Given the description of an element on the screen output the (x, y) to click on. 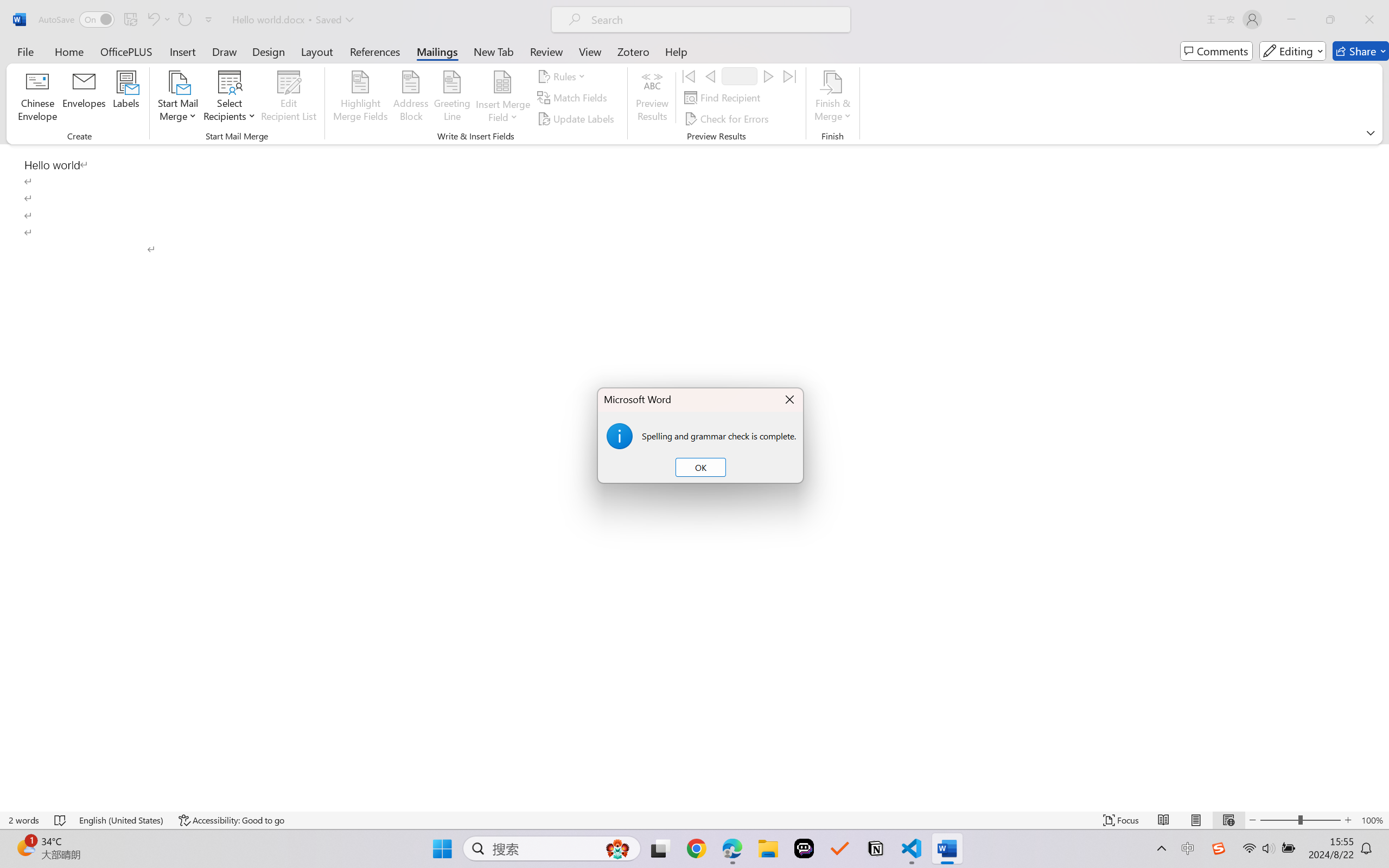
File Tab (24, 51)
Chinese Envelope... (37, 97)
More Options (502, 112)
Design (268, 51)
AutomationID: BadgeAnchorLargeTicker (24, 847)
Editing (1292, 50)
Zoom (1300, 819)
Customize Quick Access Toolbar (208, 19)
Web Layout (1228, 819)
Class: MsoCommandBar (694, 72)
Zoom 100% (1372, 819)
First (688, 75)
Match Fields... (573, 97)
